Given the description of an element on the screen output the (x, y) to click on. 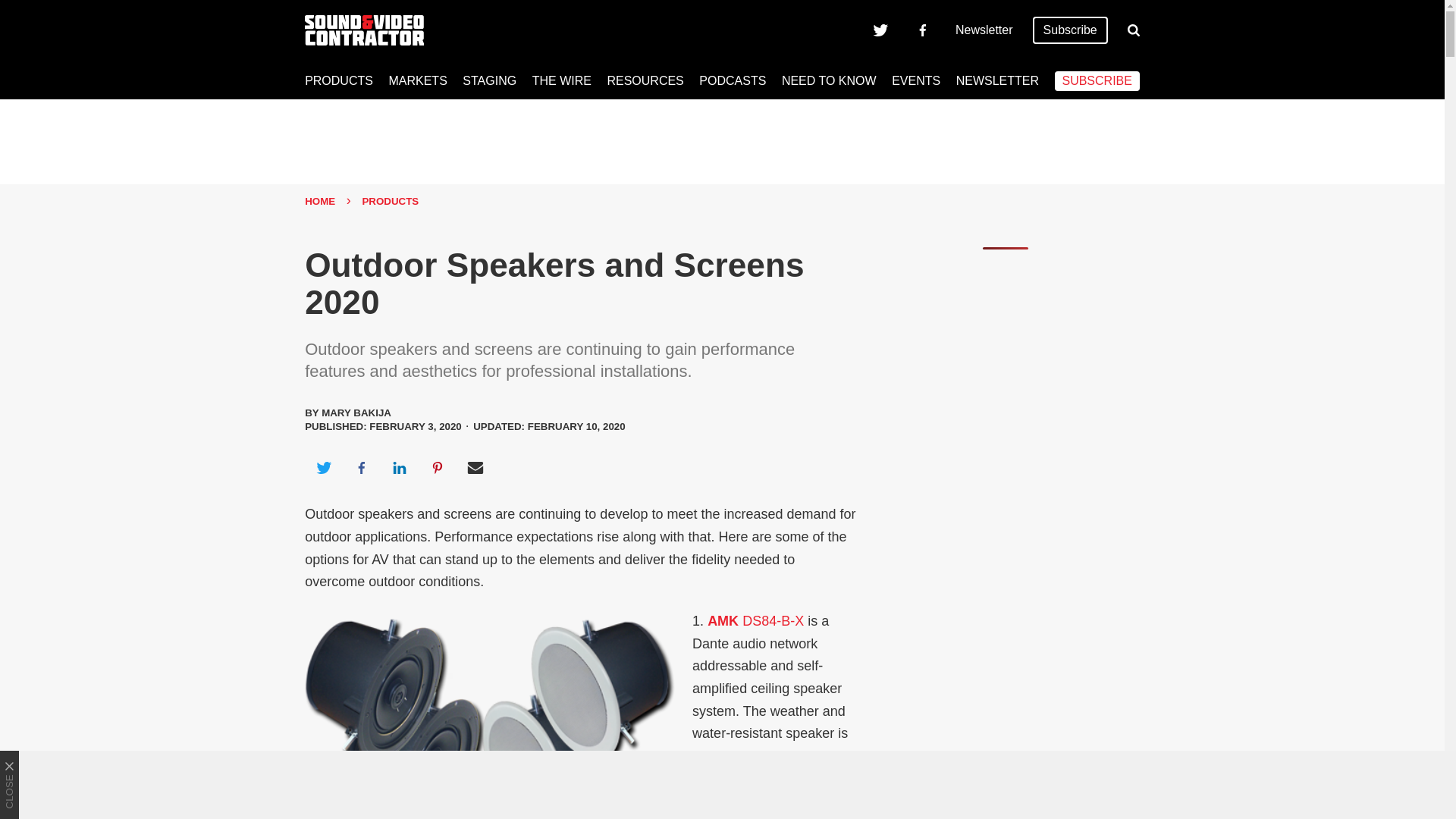
Share via Email (476, 467)
Share on Twitter (323, 467)
Share on Pinterest (438, 467)
Share on Facebook (361, 467)
Share on LinkedIn (399, 467)
